Given the description of an element on the screen output the (x, y) to click on. 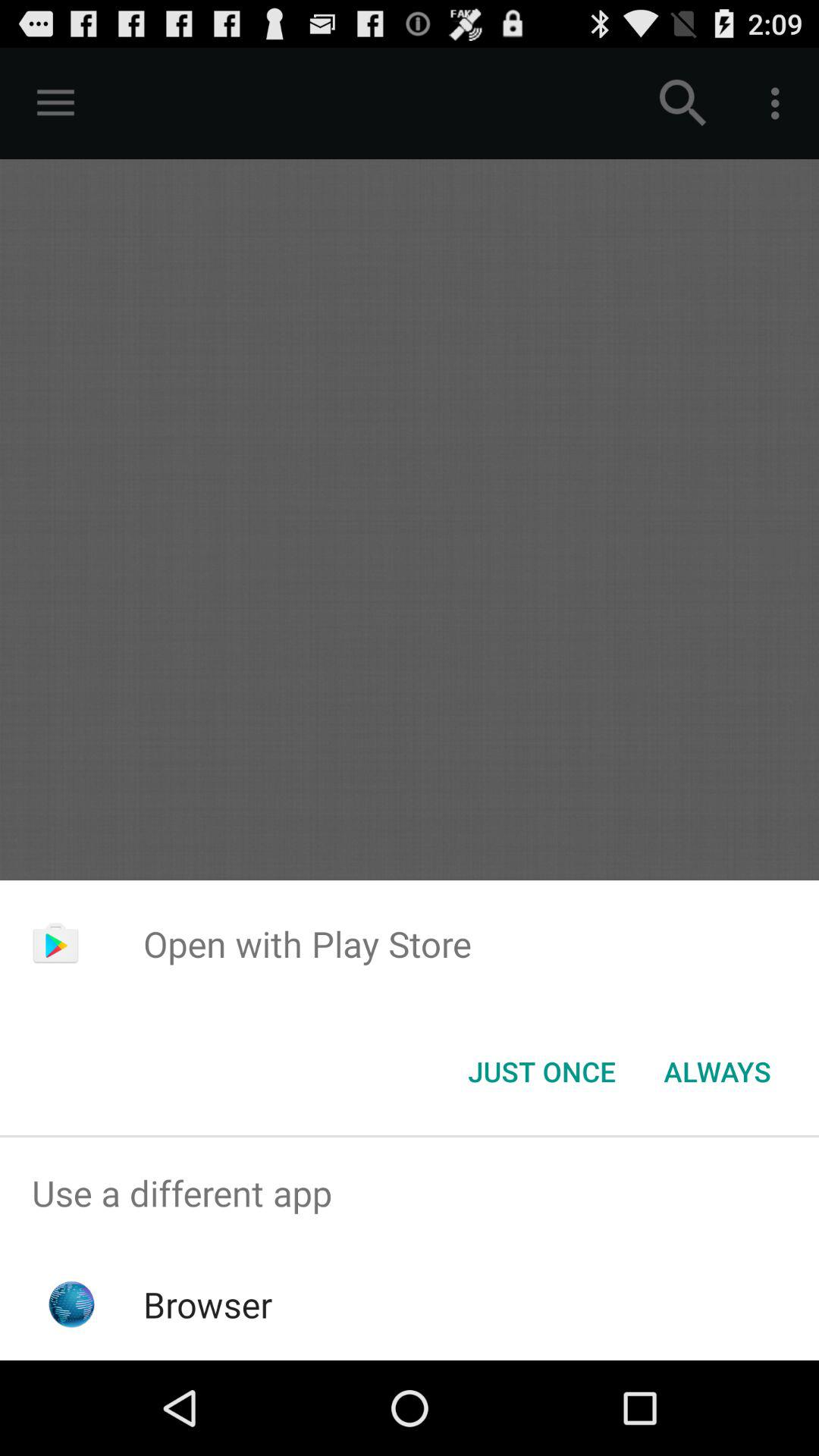
click always (717, 1071)
